Given the description of an element on the screen output the (x, y) to click on. 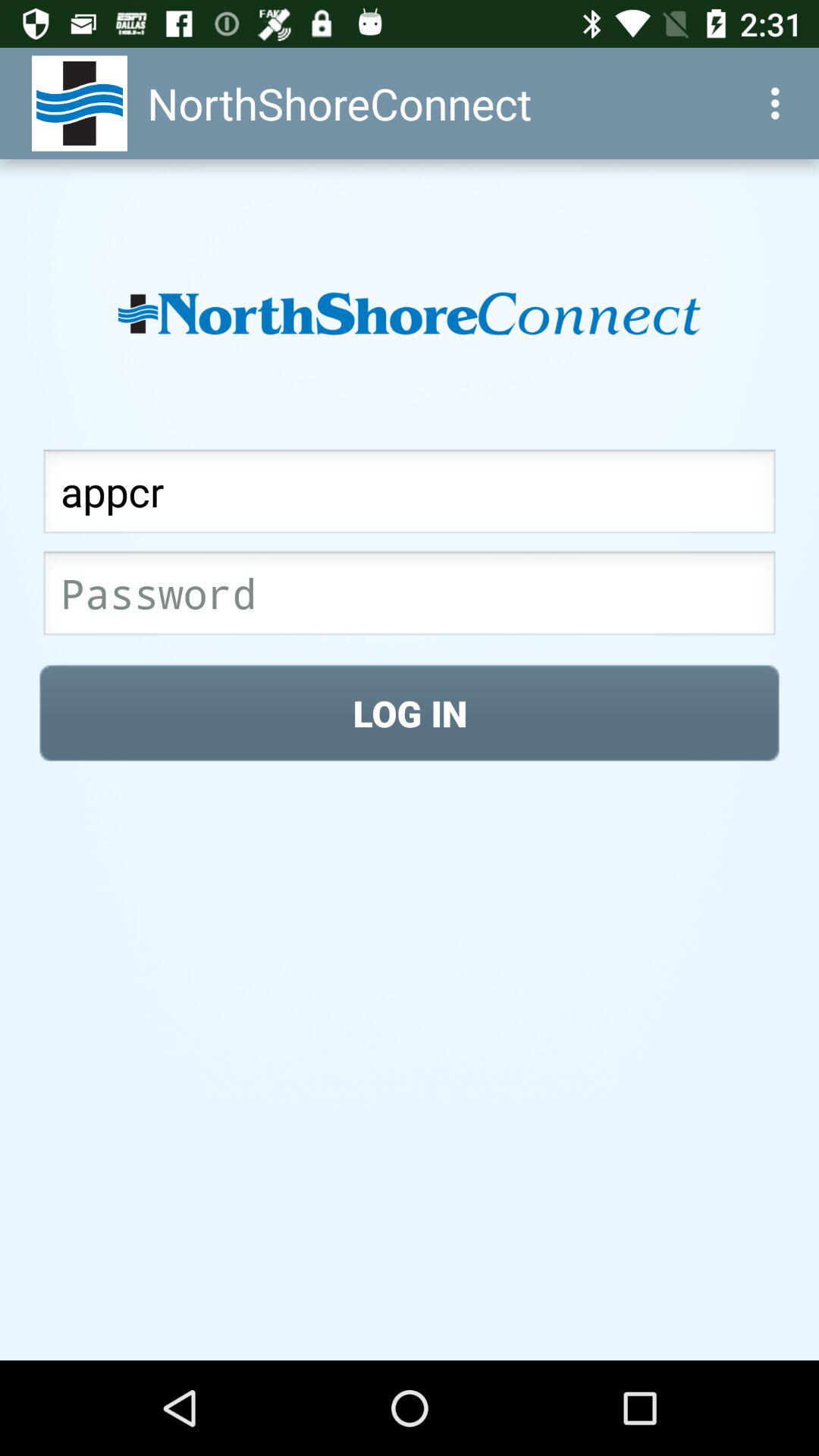
scroll to the appcr (409, 495)
